Given the description of an element on the screen output the (x, y) to click on. 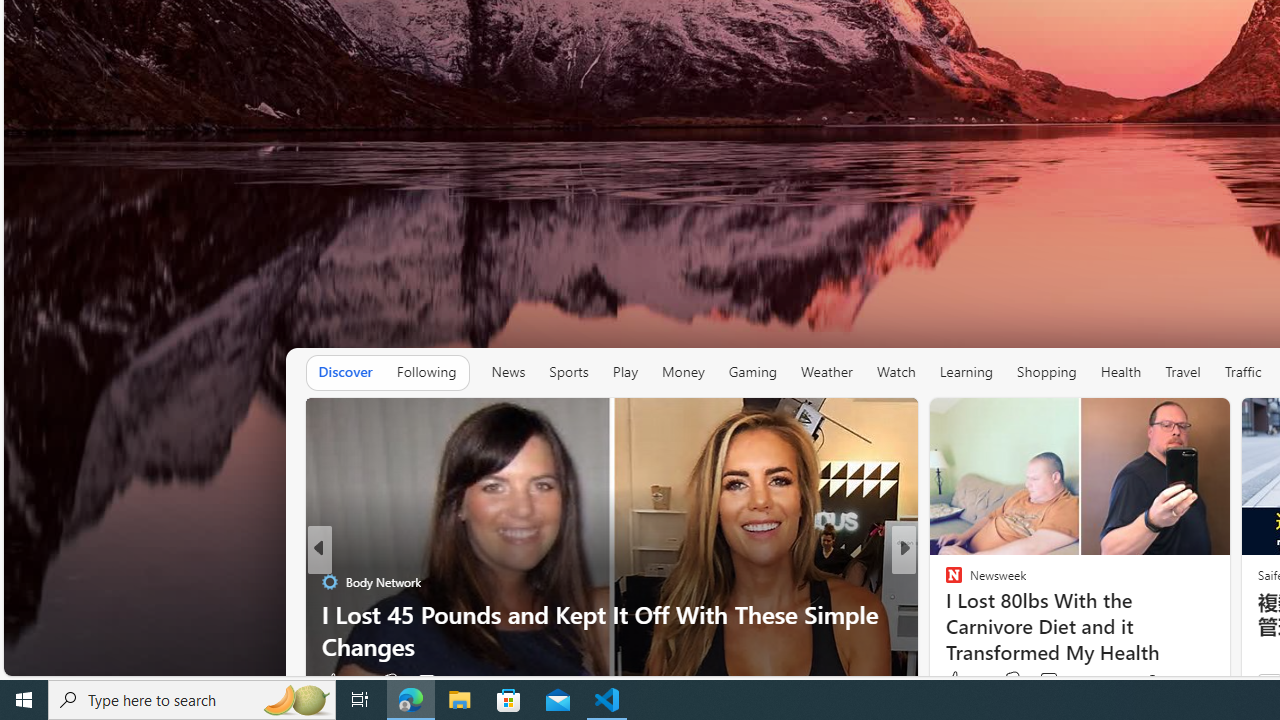
Shopping (1047, 371)
Travel (1183, 372)
383 Like (964, 680)
Money (682, 372)
I Lost 45 Pounds and Kept It Off With These Simple Changes (611, 629)
Shopping (1046, 372)
Health (1121, 372)
Traffic (1243, 371)
